Given the description of an element on the screen output the (x, y) to click on. 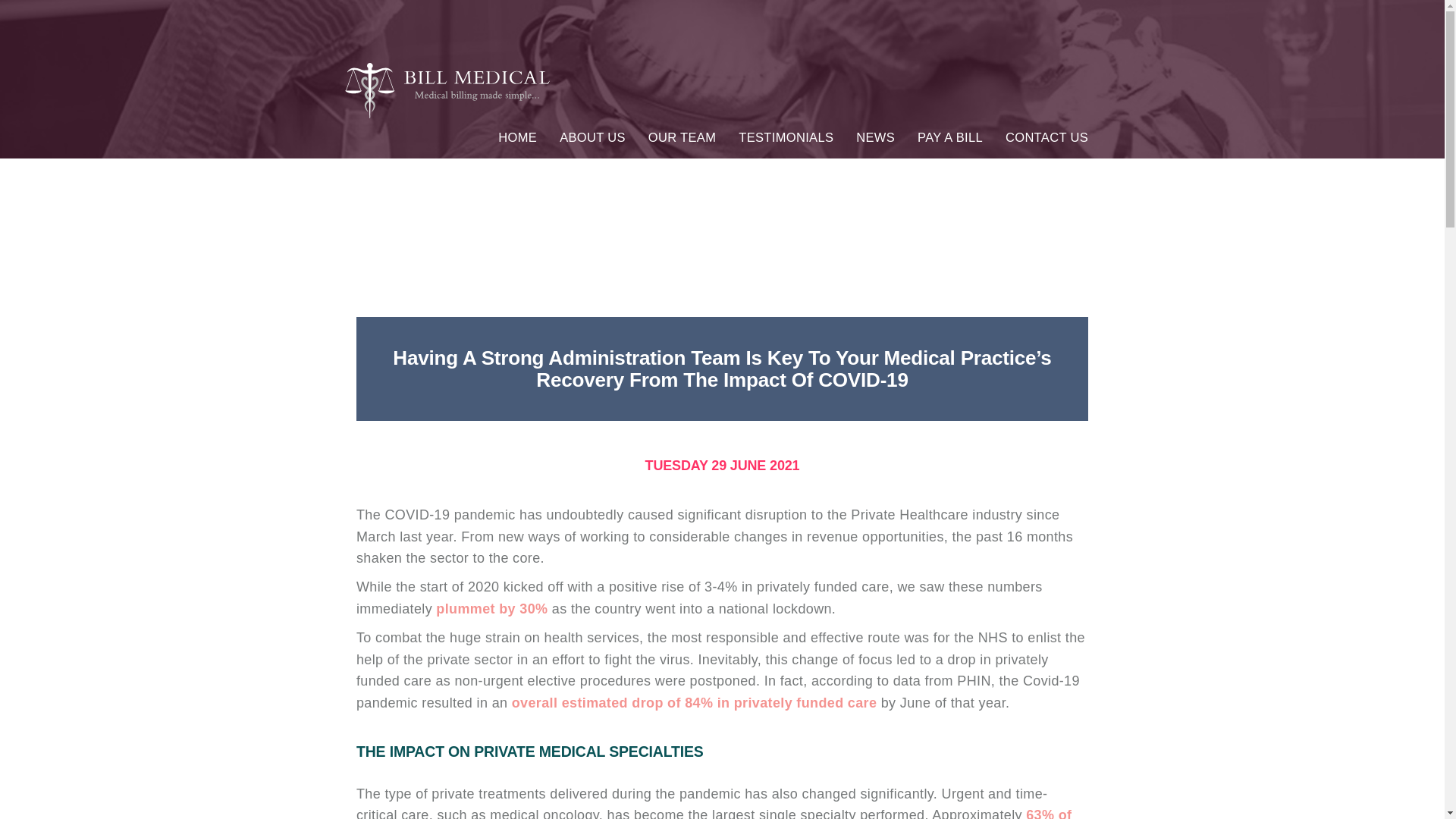
HOME (517, 139)
CONTACT US (1046, 139)
NEWS (874, 139)
TESTIMONIALS (785, 139)
ABOUT US (592, 139)
OUR TEAM (681, 139)
PAY A BILL (949, 139)
PHIN (973, 680)
